Given the description of an element on the screen output the (x, y) to click on. 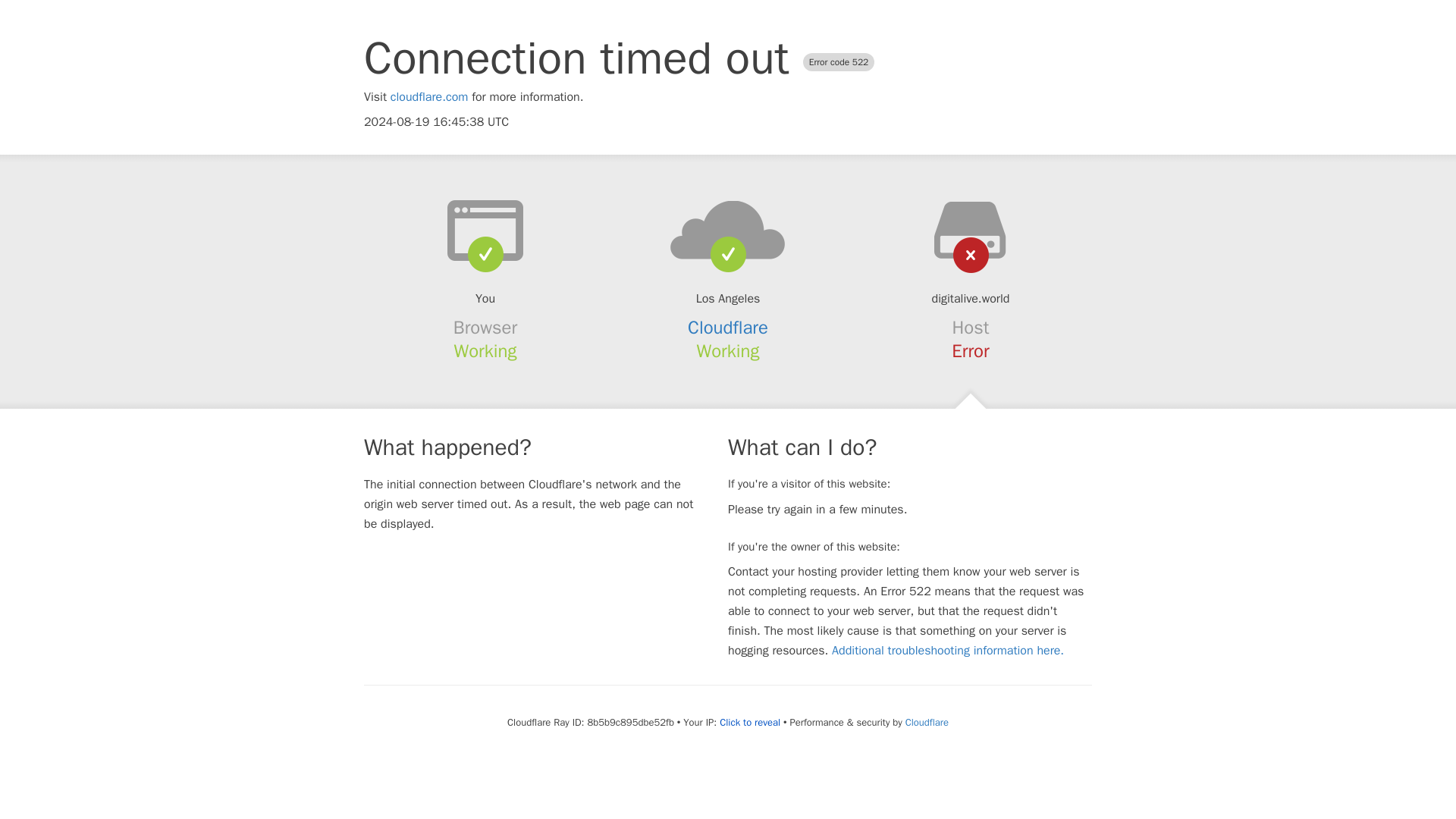
Cloudflare (927, 721)
Cloudflare (727, 327)
cloudflare.com (429, 96)
Click to reveal (749, 722)
Additional troubleshooting information here. (947, 650)
